Given the description of an element on the screen output the (x, y) to click on. 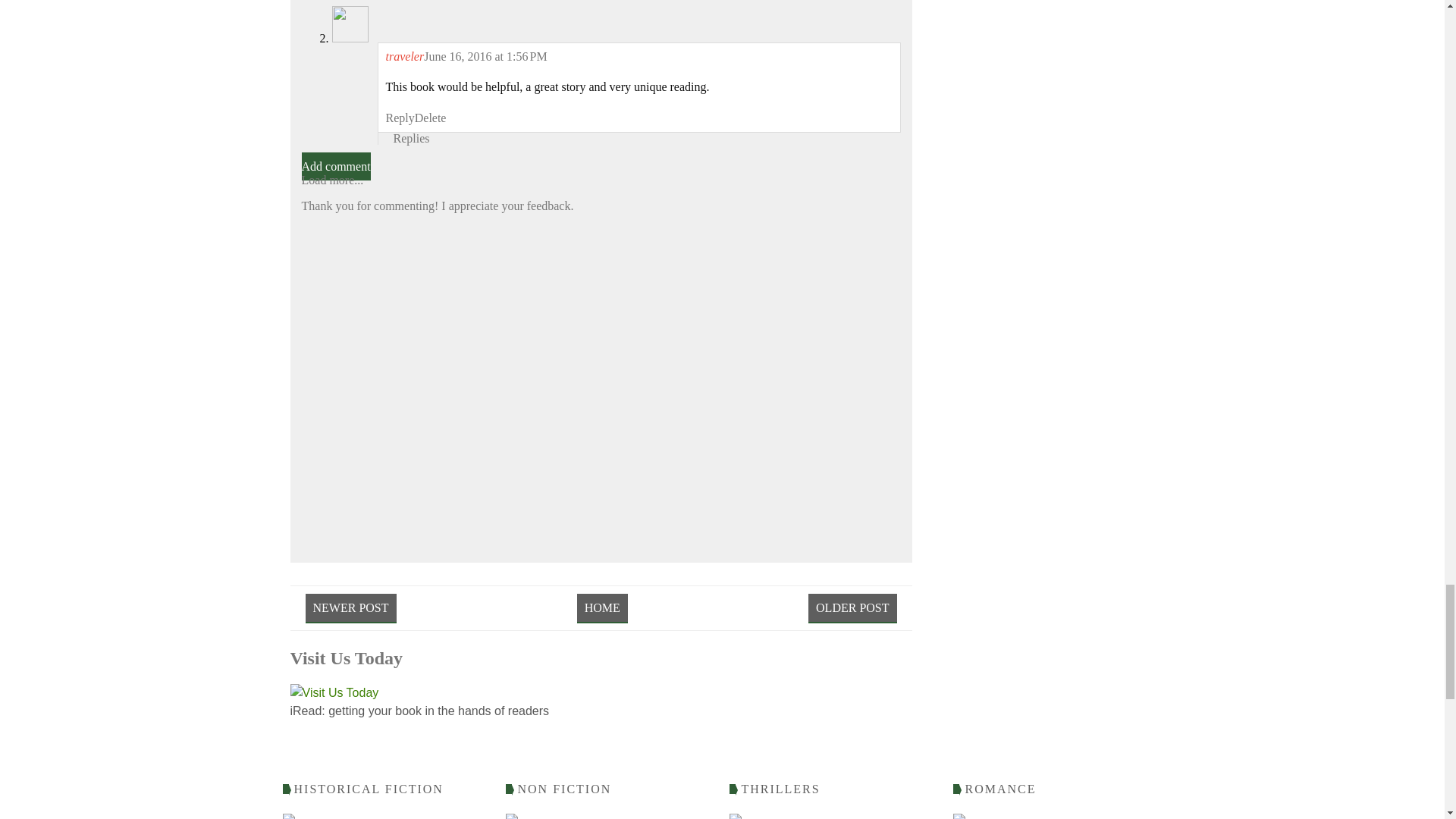
Older Post (852, 608)
Newer Post (350, 608)
